Given the description of an element on the screen output the (x, y) to click on. 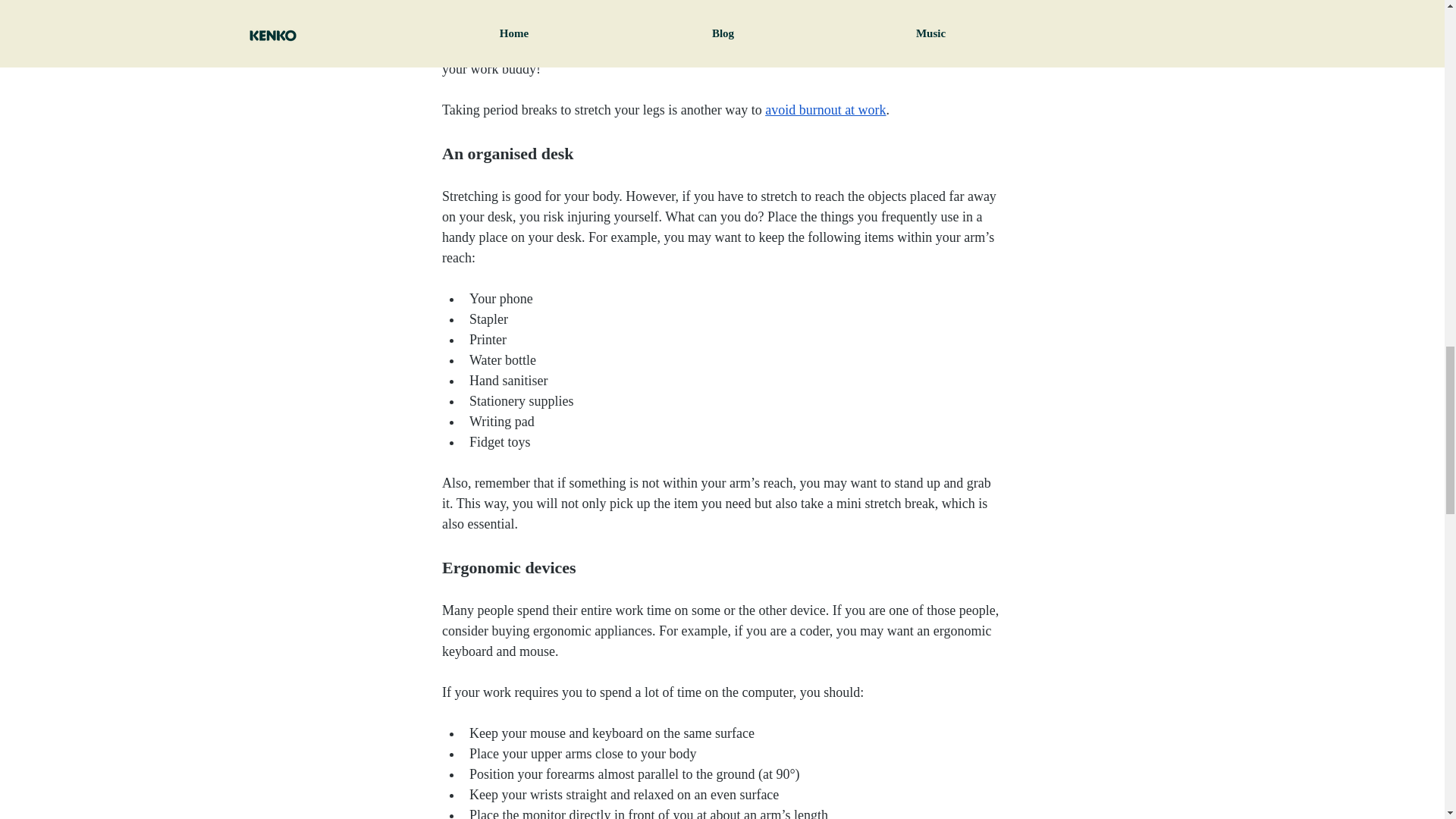
avoid burnout at work (825, 109)
